Given the description of an element on the screen output the (x, y) to click on. 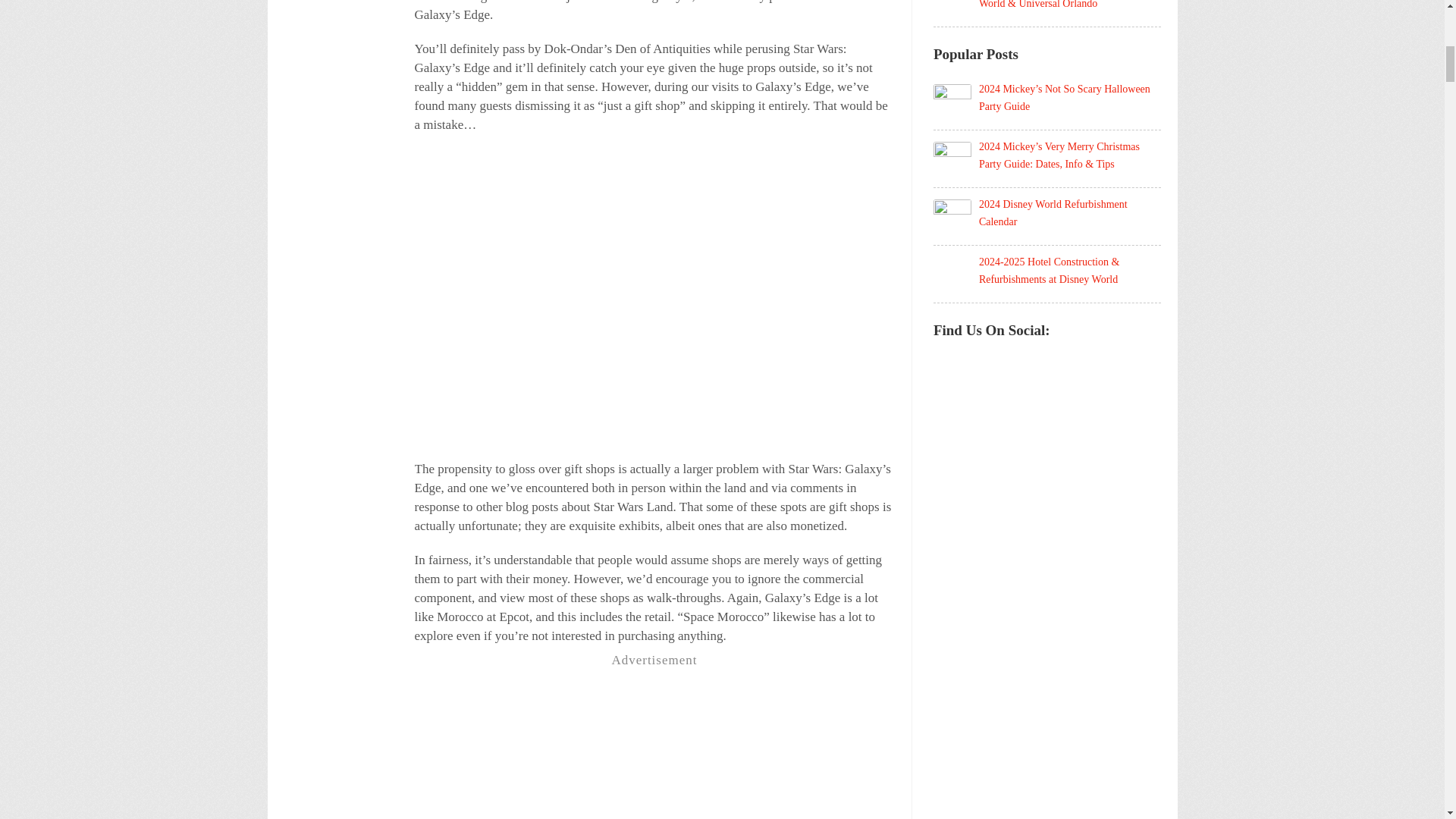
Facebook (948, 360)
Pinterest (980, 360)
